Given the description of an element on the screen output the (x, y) to click on. 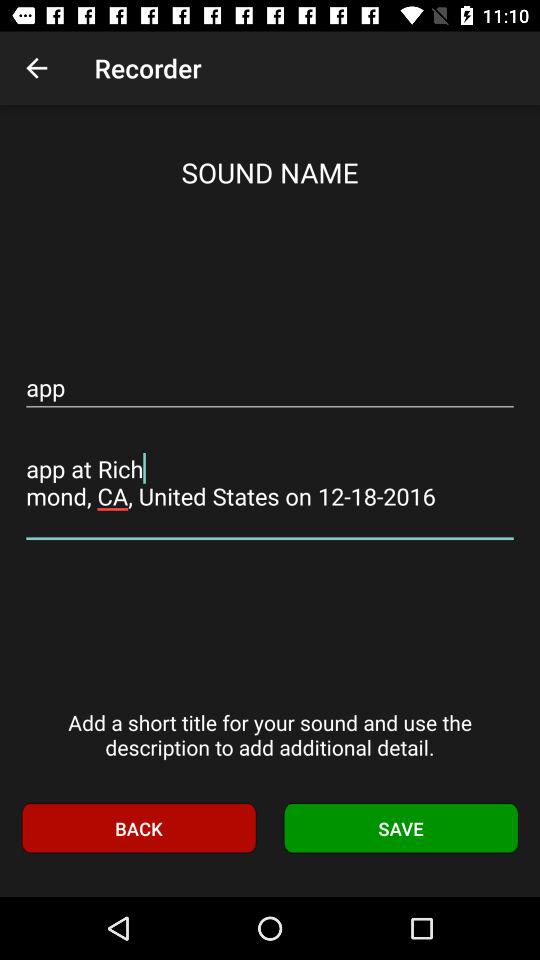
press item next to the recorder item (36, 68)
